Given the description of an element on the screen output the (x, y) to click on. 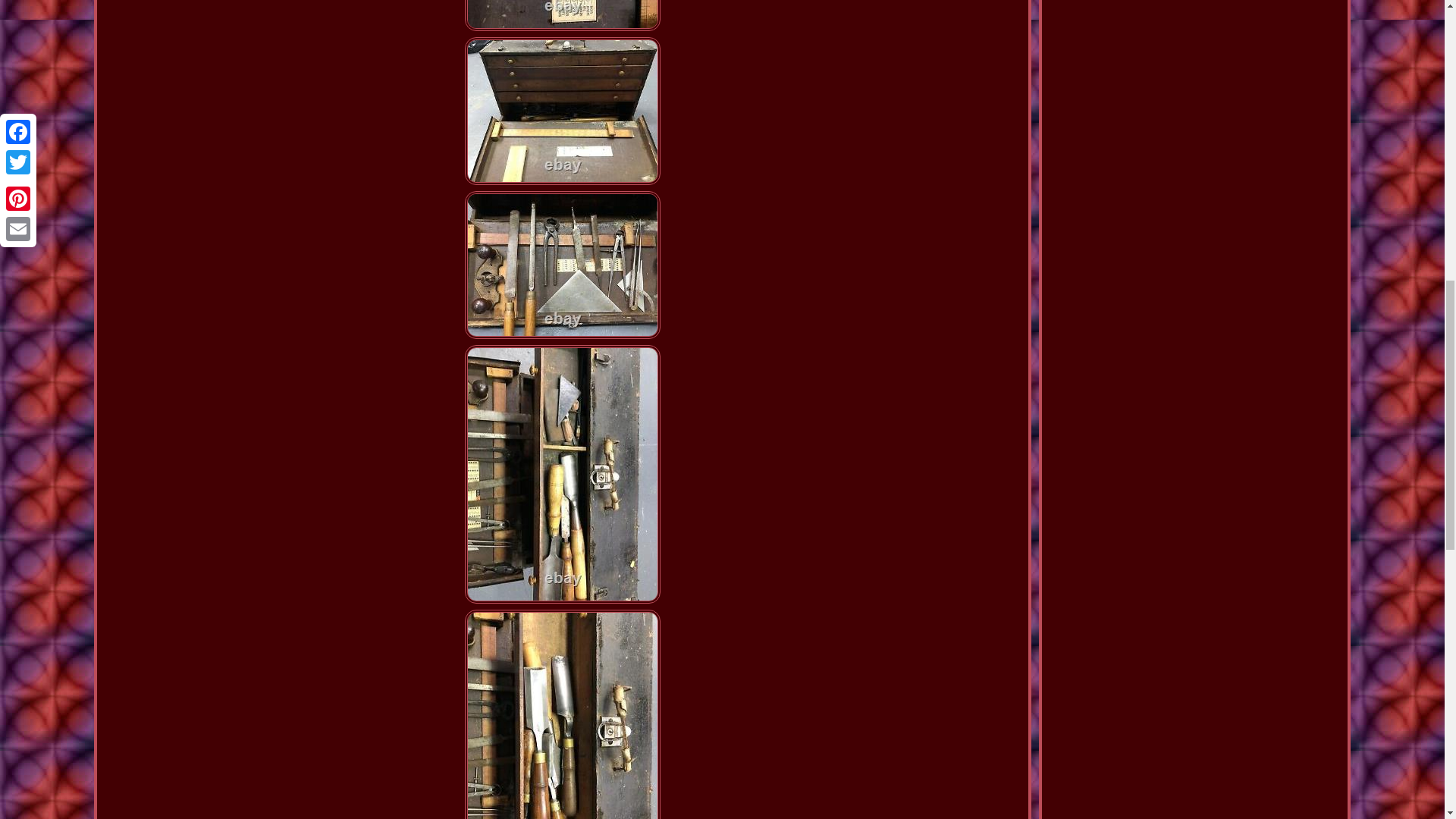
Antique woodworking tools-Dietzgen wood tool case (562, 15)
Antique woodworking tools-Dietzgen wood tool case (562, 110)
Antique woodworking tools-Dietzgen wood tool case (562, 714)
Antique woodworking tools-Dietzgen wood tool case (562, 264)
